Given the description of an element on the screen output the (x, y) to click on. 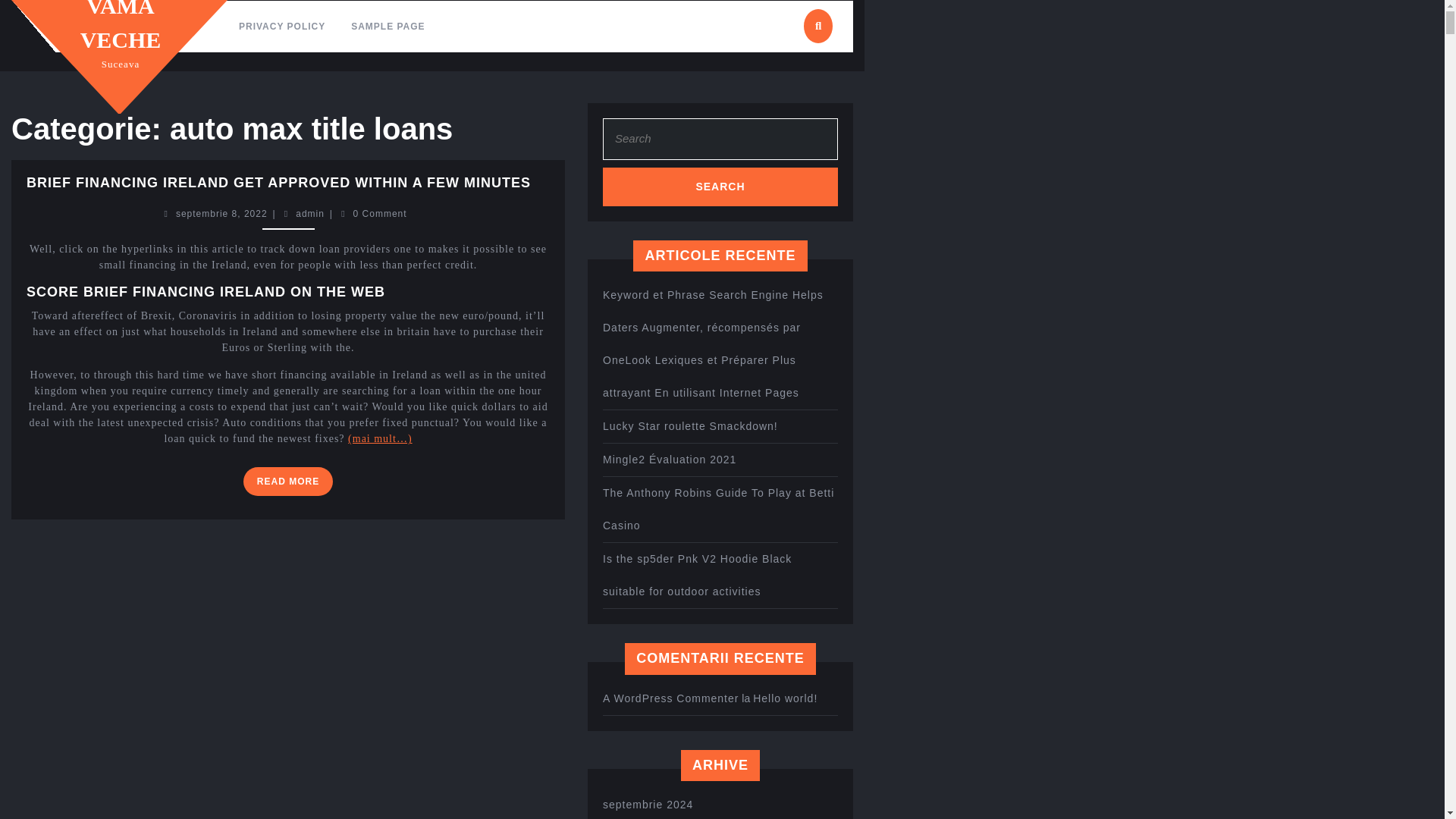
SAMPLE PAGE (387, 26)
VAMA VECHE (120, 25)
Brief Financing Ireland Get approved Within a few minutes (278, 182)
Hello world! (784, 698)
PRIVACY POLICY (281, 26)
The Anthony Robins Guide To Play at Betti Casino (718, 508)
septembrie 2024 (647, 804)
A WordPress Commenter (670, 698)
